Given the description of an element on the screen output the (x, y) to click on. 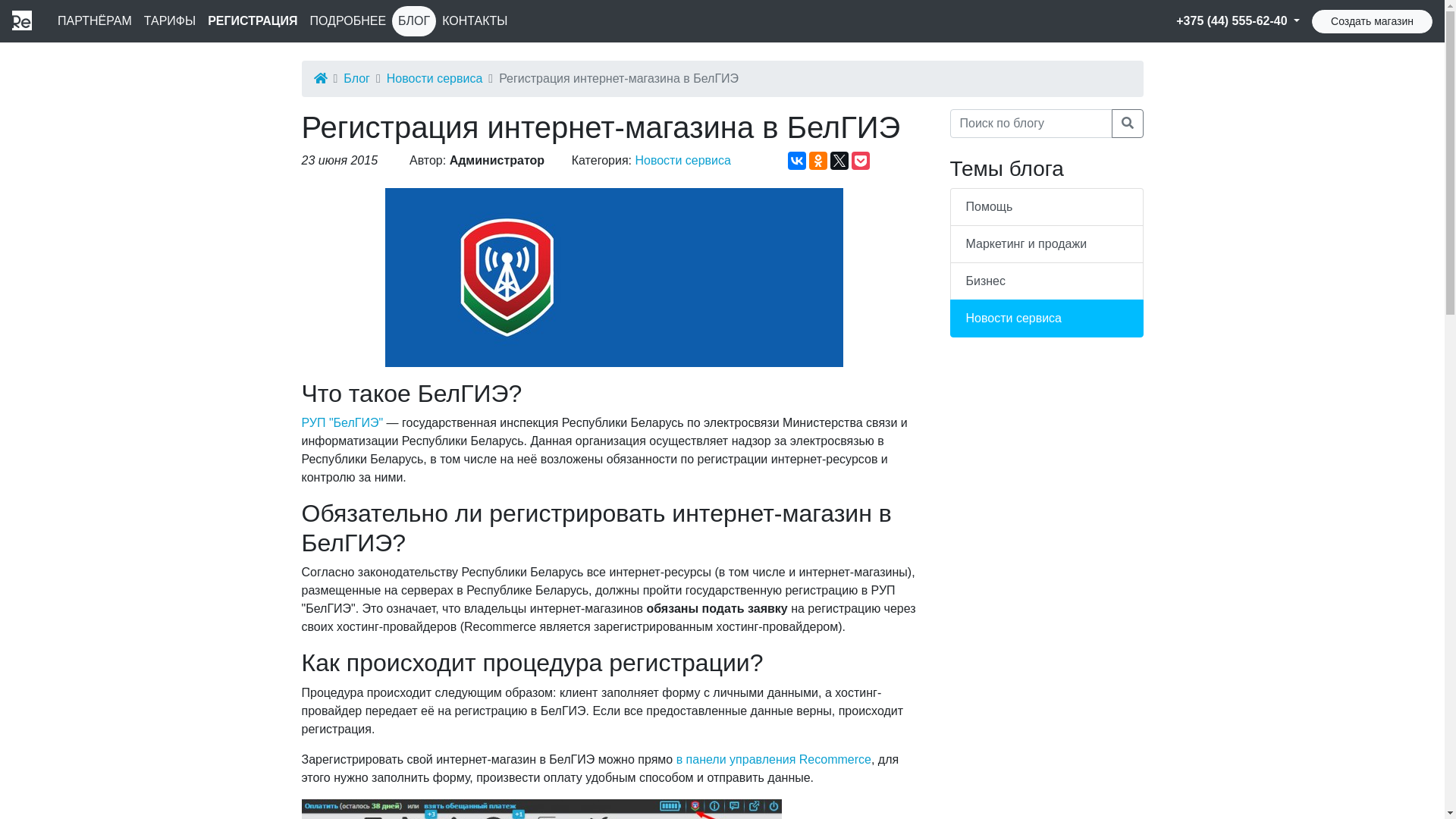
Twitter Element type: hover (839, 160)
+375 (44) 555-62-40 Element type: text (1237, 21)
Pocket Element type: hover (860, 160)
